Given the description of an element on the screen output the (x, y) to click on. 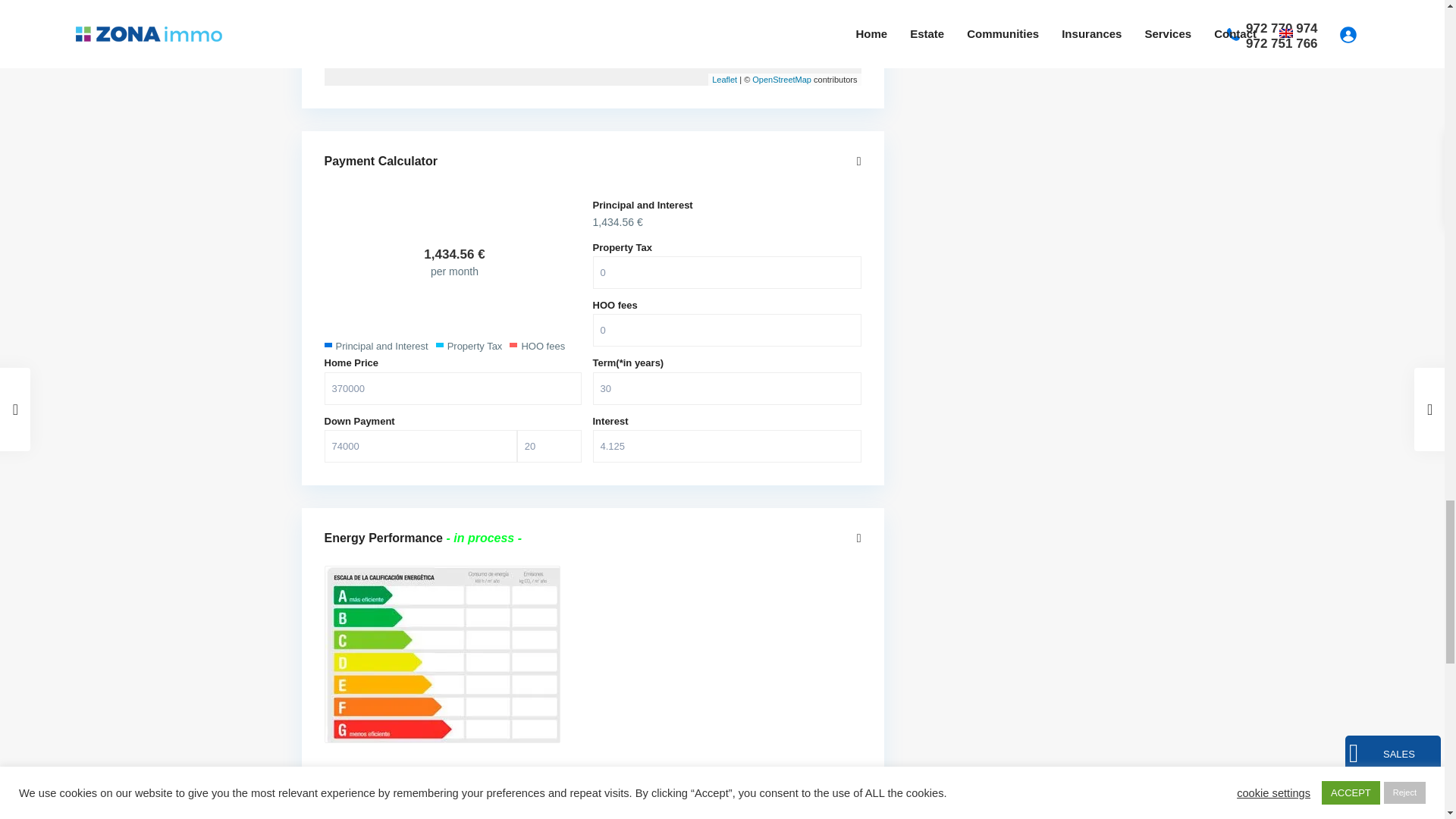
30 (726, 388)
74000 (420, 445)
0 (726, 329)
4.125 (726, 445)
0 (726, 272)
370000 (452, 388)
20 (548, 445)
